Given the description of an element on the screen output the (x, y) to click on. 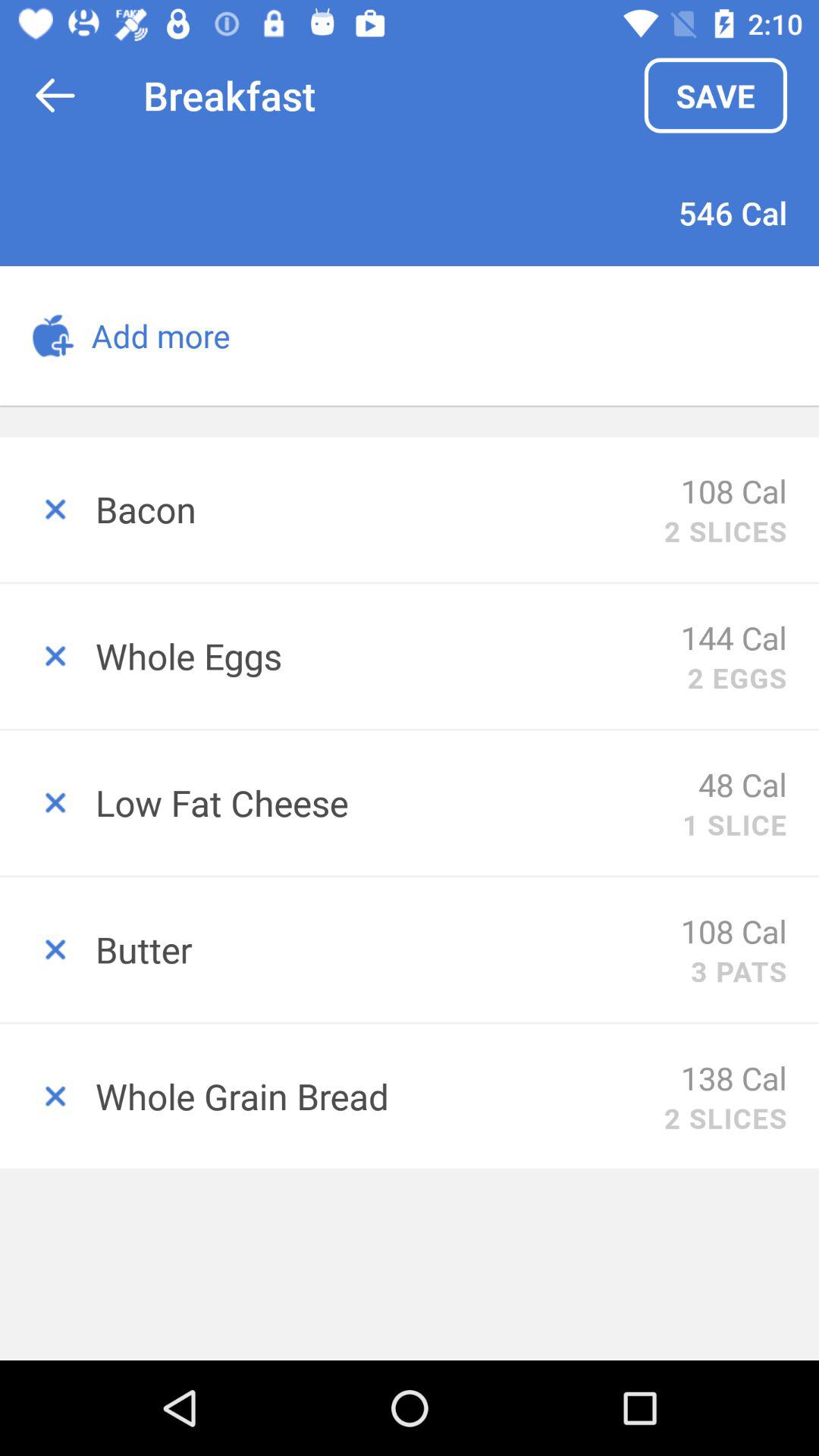
remove item (47, 949)
